Given the description of an element on the screen output the (x, y) to click on. 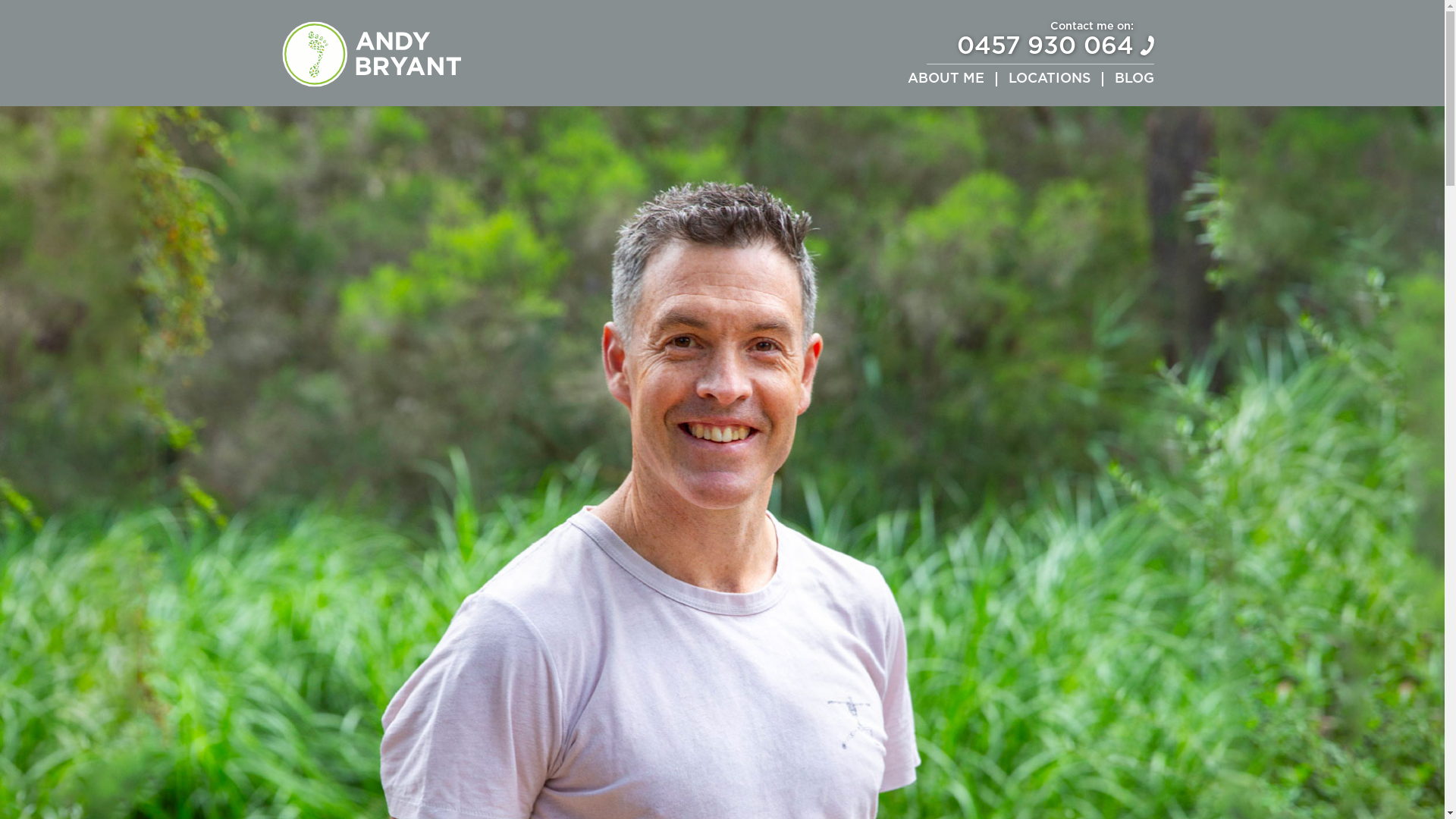
0457 930 064 Element type: text (1045, 46)
ABOUT ME Element type: text (945, 79)
BLOG Element type: text (1134, 79)
LOCATIONS Element type: text (1049, 79)
